Given the description of an element on the screen output the (x, y) to click on. 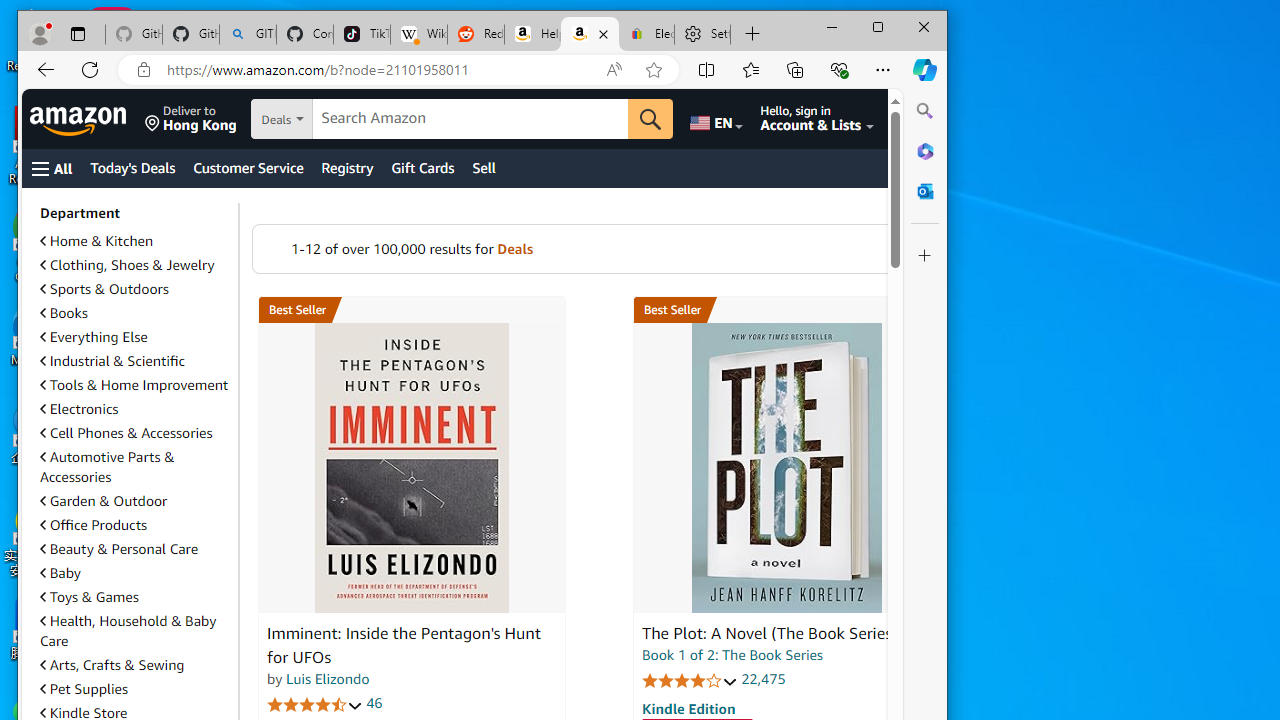
The Plot: A Novel (The Book Series 1) (776, 634)
Everything Else (135, 336)
22,475 (763, 678)
Office Products (93, 525)
Maximize (878, 26)
Electronics (135, 408)
GITHUB - Search (248, 34)
Sports & Outdoors (103, 289)
46 (374, 703)
